Given the description of an element on the screen output the (x, y) to click on. 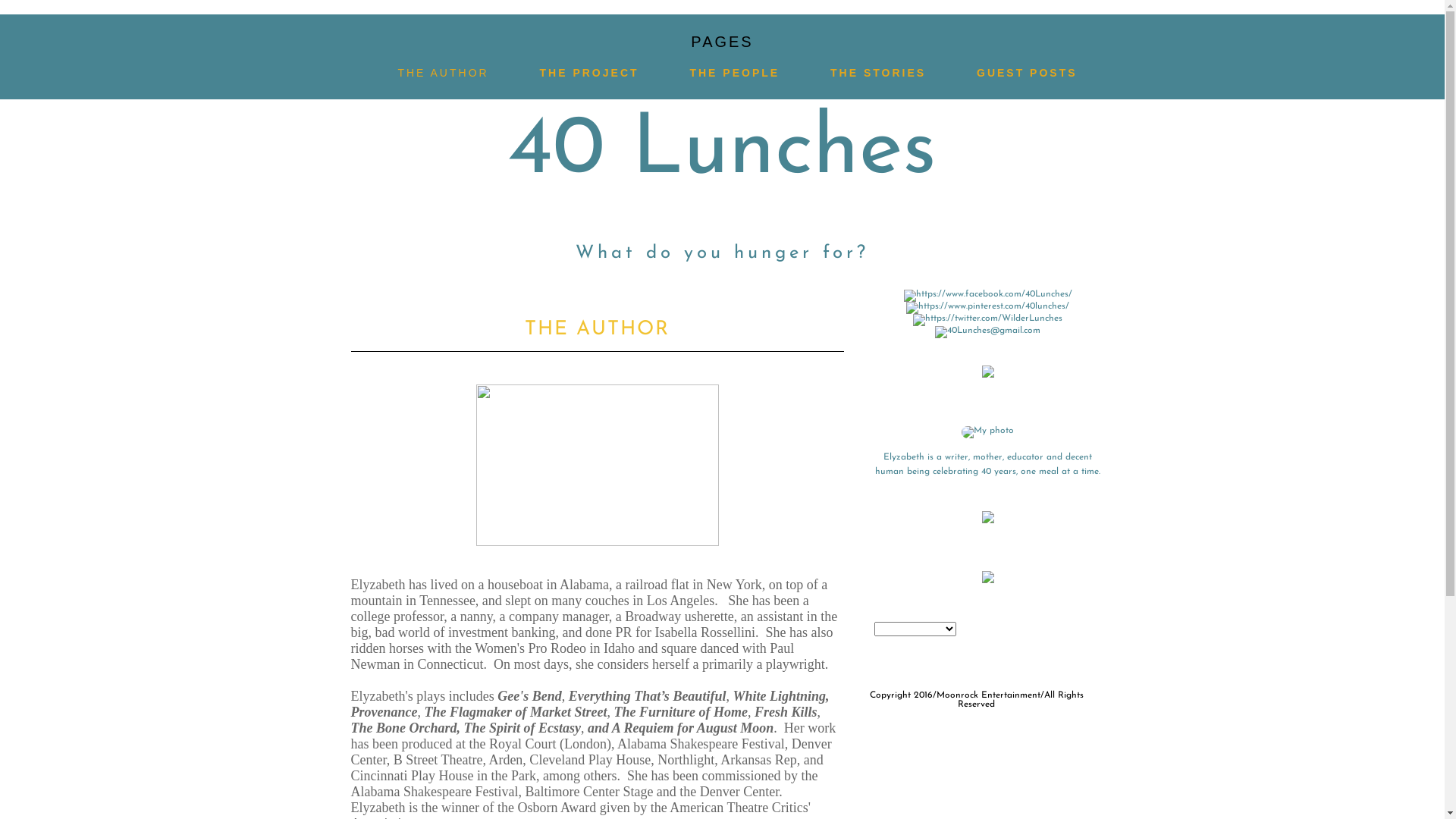
THE PEOPLE Element type: text (734, 72)
THE PROJECT Element type: text (589, 72)
THE AUTHOR Element type: text (442, 72)
GUEST POSTS Element type: text (1026, 72)
40 Lunches Element type: text (722, 151)
THE STORIES Element type: text (877, 72)
